Given the description of an element on the screen output the (x, y) to click on. 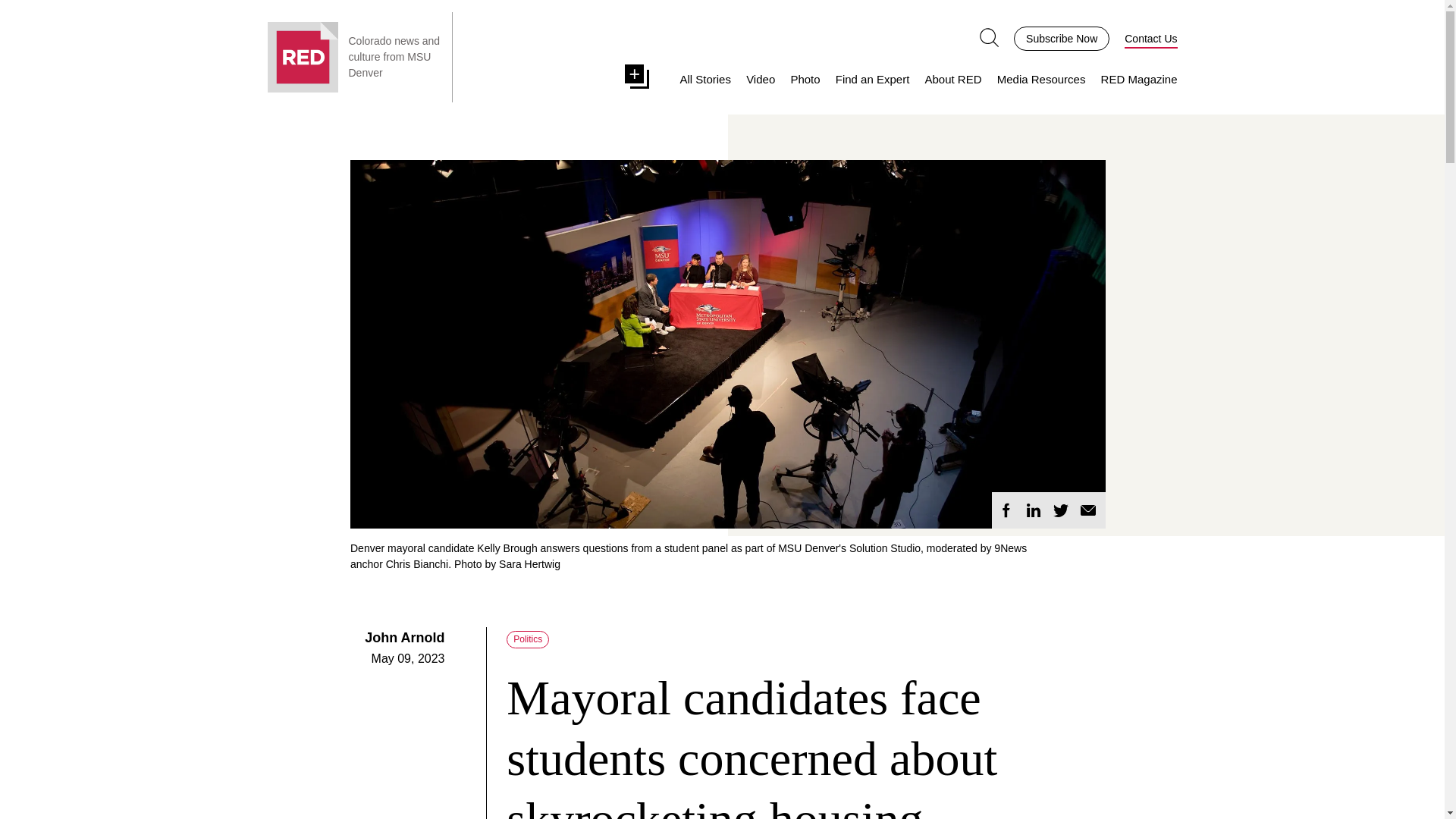
Colorado news and culture from MSU Denver (396, 57)
Video (759, 79)
Subscribe Now (1061, 37)
Expand Menu (639, 78)
All Stories (704, 79)
RED Magazine (1138, 79)
Find an Expert (872, 79)
Contact Us (1150, 38)
Media Resources (1041, 79)
Photo (804, 79)
Open Search (988, 37)
About RED (952, 79)
